Given the description of an element on the screen output the (x, y) to click on. 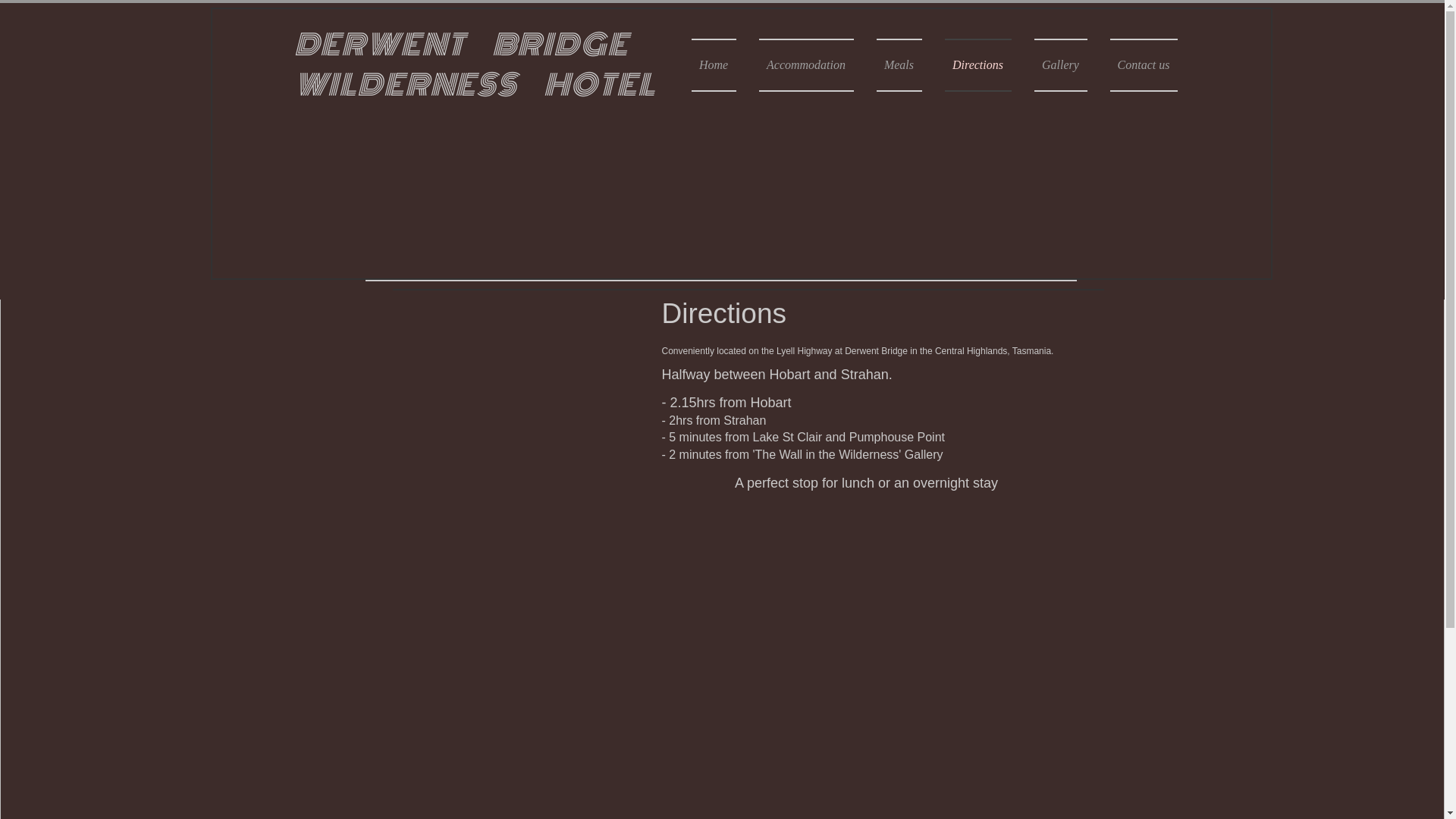
Home Element type: text (719, 64)
Gallery Element type: text (1060, 64)
Meals Element type: text (898, 64)
Directions Element type: text (977, 64)
Google Maps Element type: hover (505, 429)
Contact us Element type: text (1137, 64)
Accommodation Element type: text (806, 64)
